Given the description of an element on the screen output the (x, y) to click on. 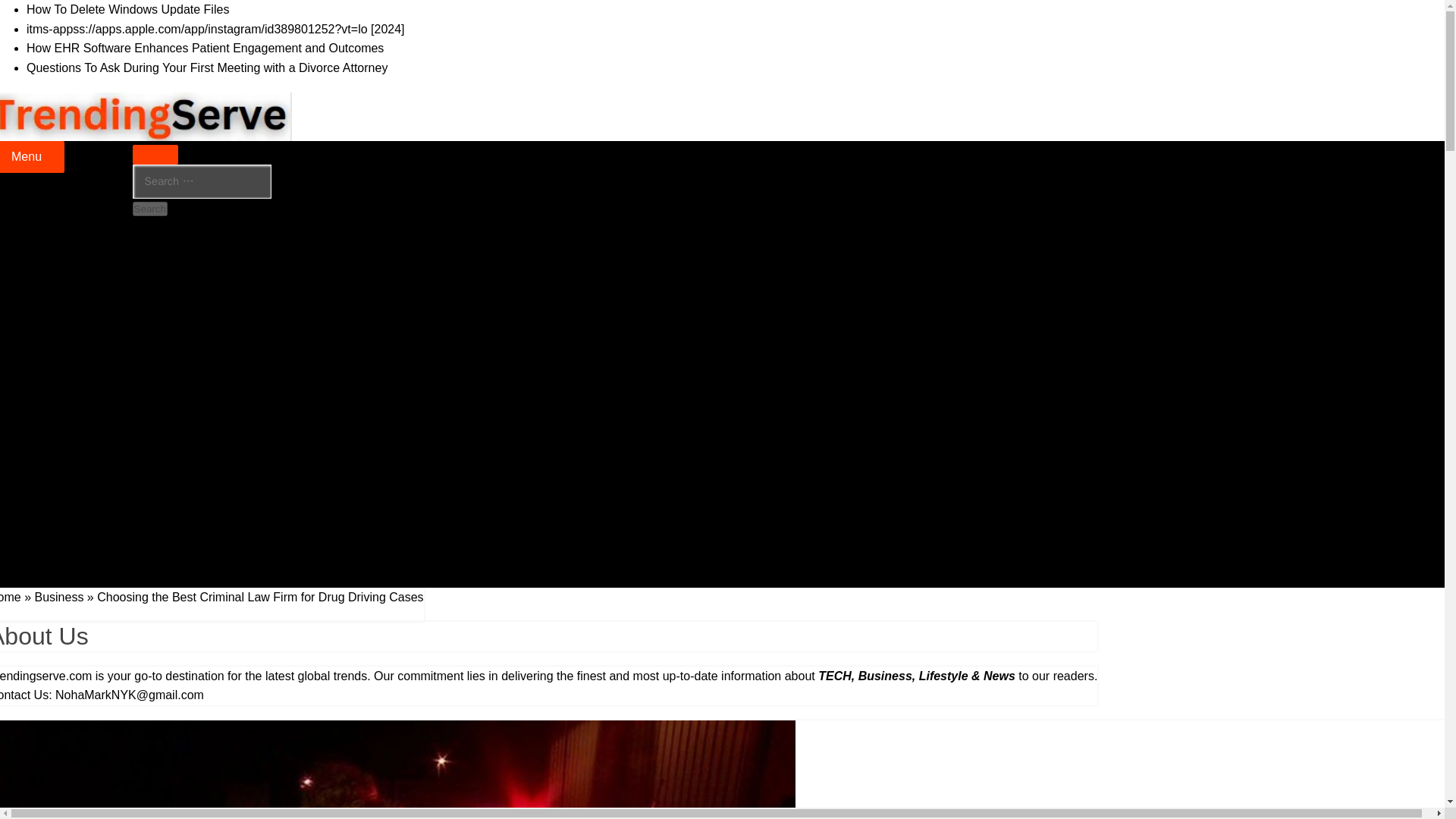
Choosing the Best Criminal Law Firm for Drug Driving Cases 1 (397, 769)
Login (70, 228)
How-to (76, 372)
Web Hosting (90, 352)
Search (149, 208)
How To Delete Windows Update Files (127, 9)
Search (149, 208)
Contact Us (55, 515)
Fix-error (78, 333)
